Given the description of an element on the screen output the (x, y) to click on. 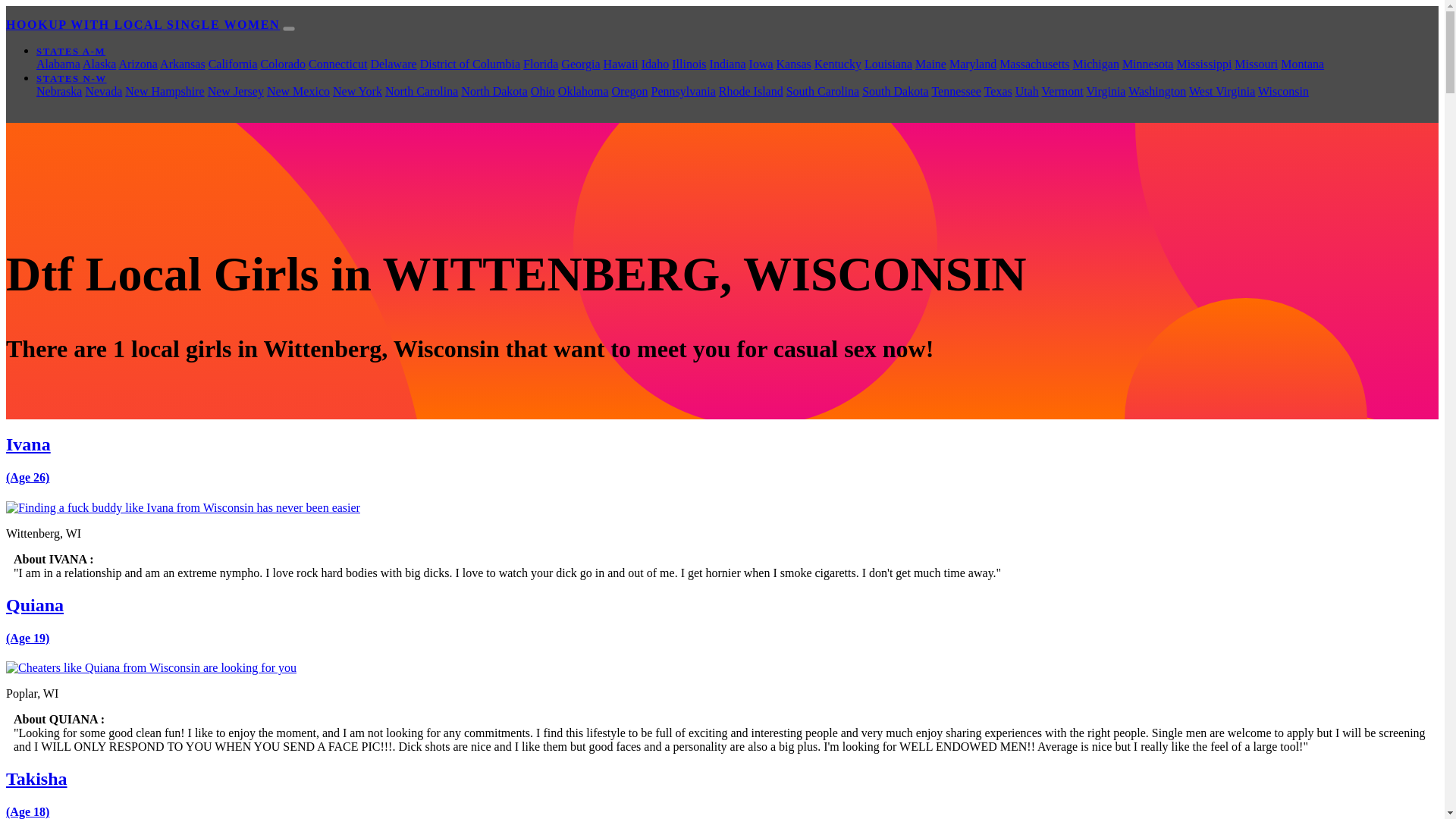
Find local fuck buddies in Kansas tonight! (793, 63)
Online local girls from Illinois want to fuck (688, 63)
Local college girls from Kentucky (837, 63)
Delaware (392, 63)
Meet young escorts in Alaska (99, 63)
Michigan (1096, 63)
Florida (539, 63)
Arizona (137, 63)
Ohio (542, 91)
Georgia (579, 63)
Maine (930, 63)
Kentucky (837, 63)
HOOKUP WITH LOCAL SINGLE WOMEN (142, 24)
Sexy local women from Georgia down to fuck (579, 63)
Louisiana (888, 63)
